Given the description of an element on the screen output the (x, y) to click on. 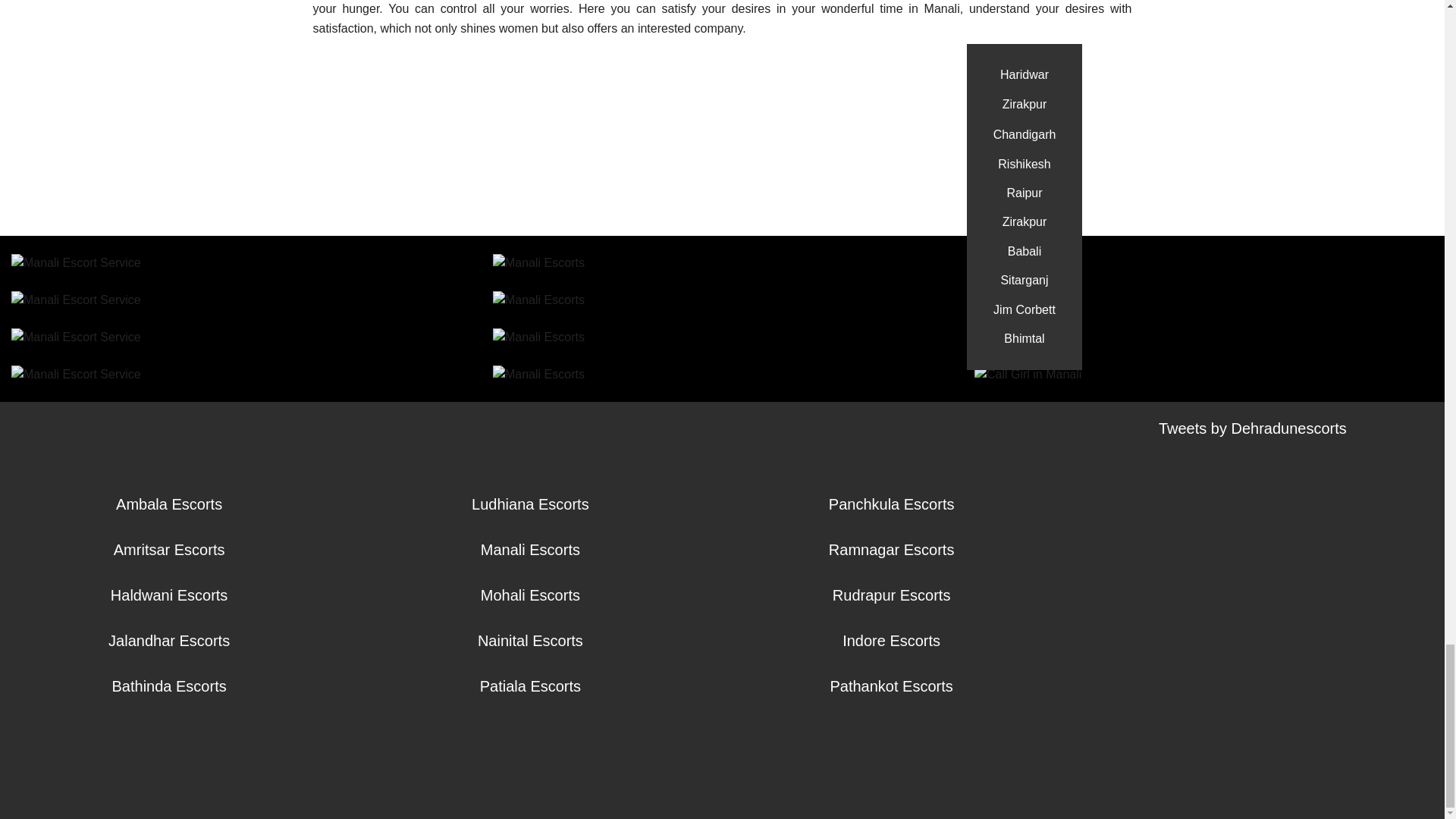
Haldwani Escorts (169, 595)
Bathinda Escorts (169, 686)
Mohali Escorts (529, 595)
Ludhiana Escorts (530, 504)
Amritsar Escorts (169, 549)
Nainital Escorts (530, 640)
Jalandhar Escorts (168, 640)
Ambala Escorts (169, 504)
Panchkula Escorts (891, 504)
Ramnagar Escorts (891, 549)
Manali Escorts (529, 549)
Patiala Escorts (530, 686)
